Given the description of an element on the screen output the (x, y) to click on. 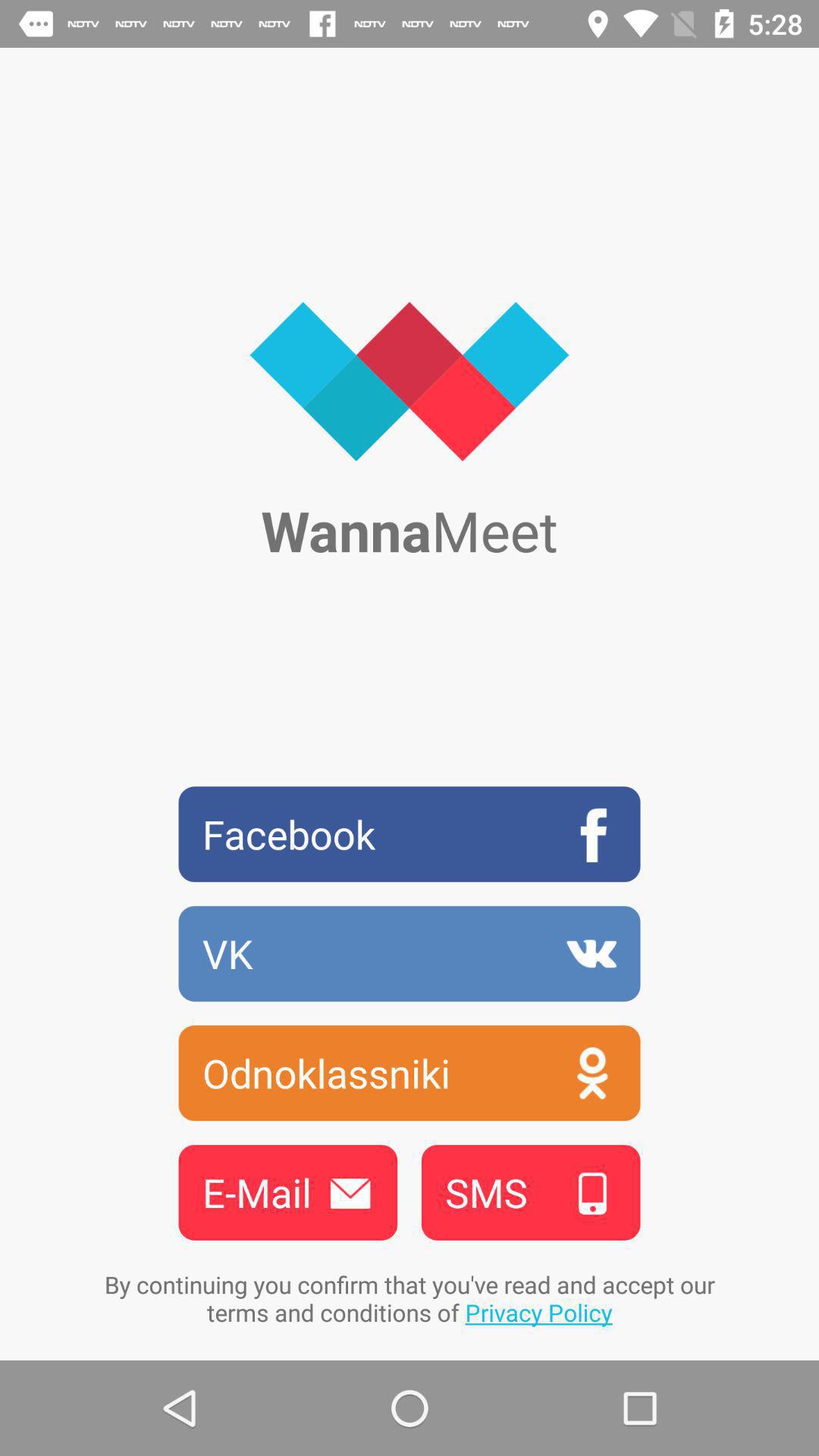
choose facebook icon (409, 834)
